Given the description of an element on the screen output the (x, y) to click on. 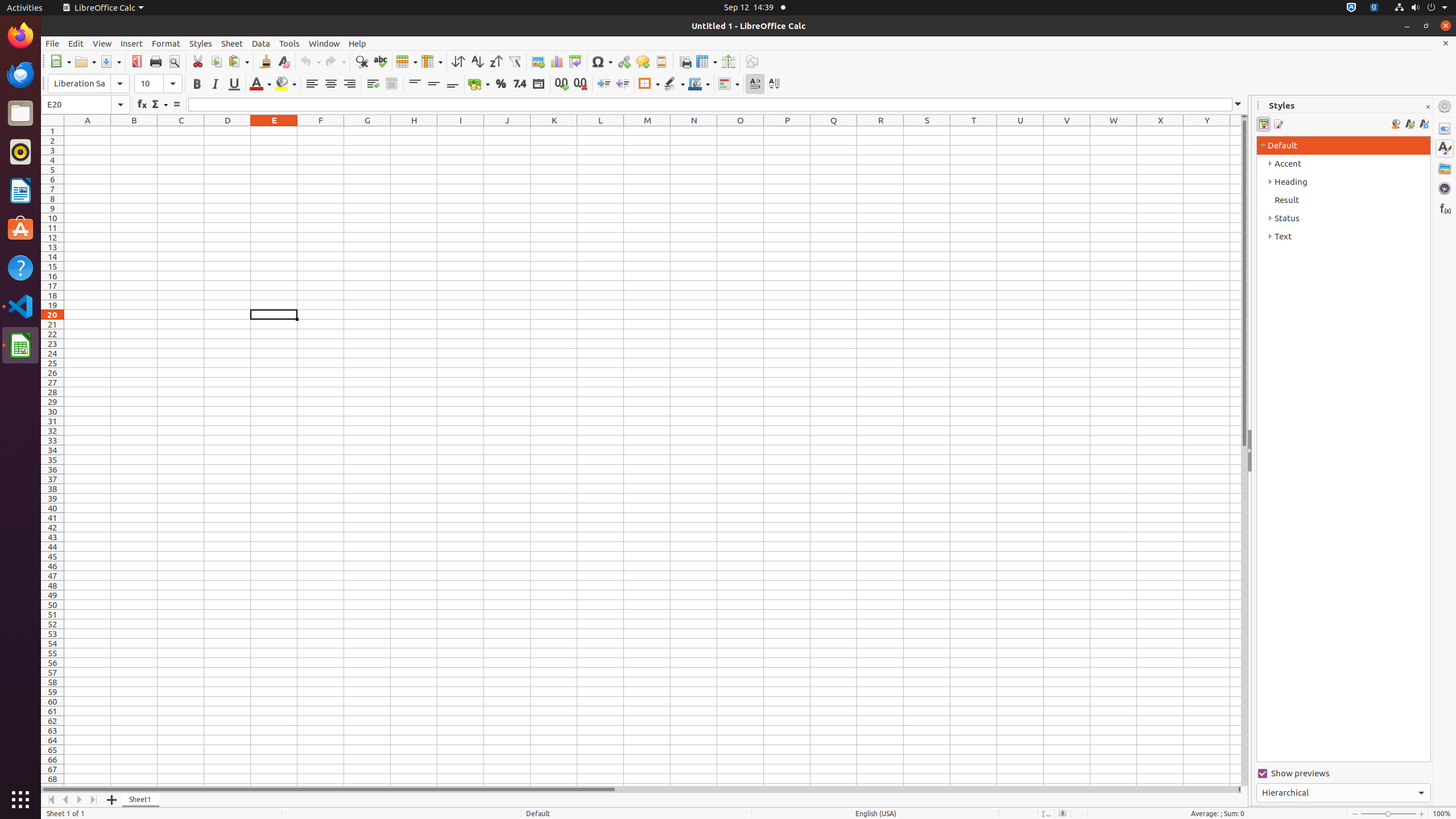
Save Element type: push-button (109, 61)
Thunderbird Mail Element type: push-button (20, 74)
New Style from Selection Element type: push-button (1409, 123)
PDF Element type: push-button (136, 61)
Gallery Element type: radio-button (1444, 168)
